Given the description of an element on the screen output the (x, y) to click on. 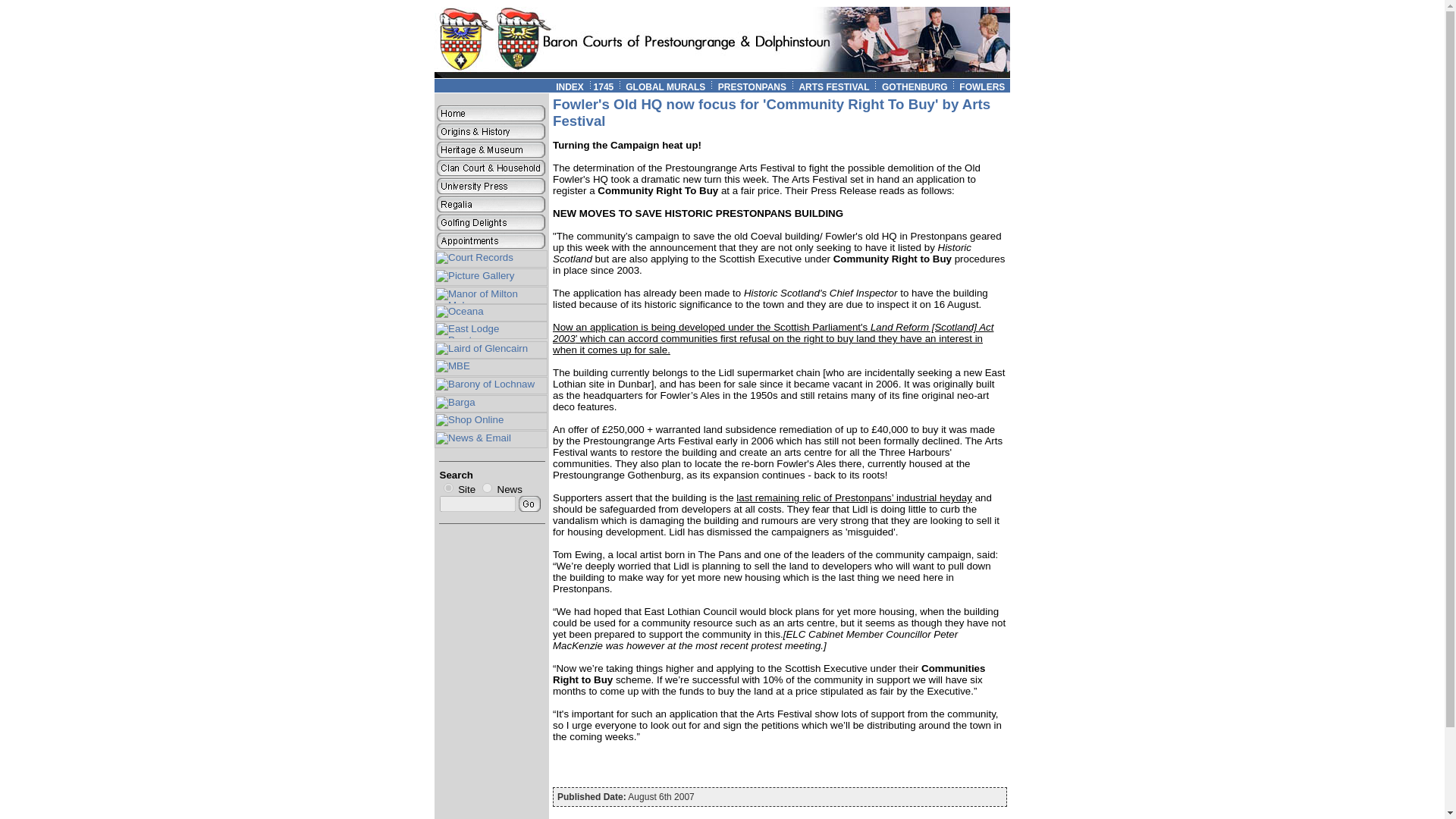
GLOBAL MURALS (663, 86)
news (486, 488)
PRESTONPANS (751, 86)
site (447, 488)
GOTHENBURG (920, 86)
INDEX (569, 86)
1745 (604, 86)
ARTS FESTIVAL (833, 86)
FOWLERS.. (984, 86)
GO (529, 503)
